Given the description of an element on the screen output the (x, y) to click on. 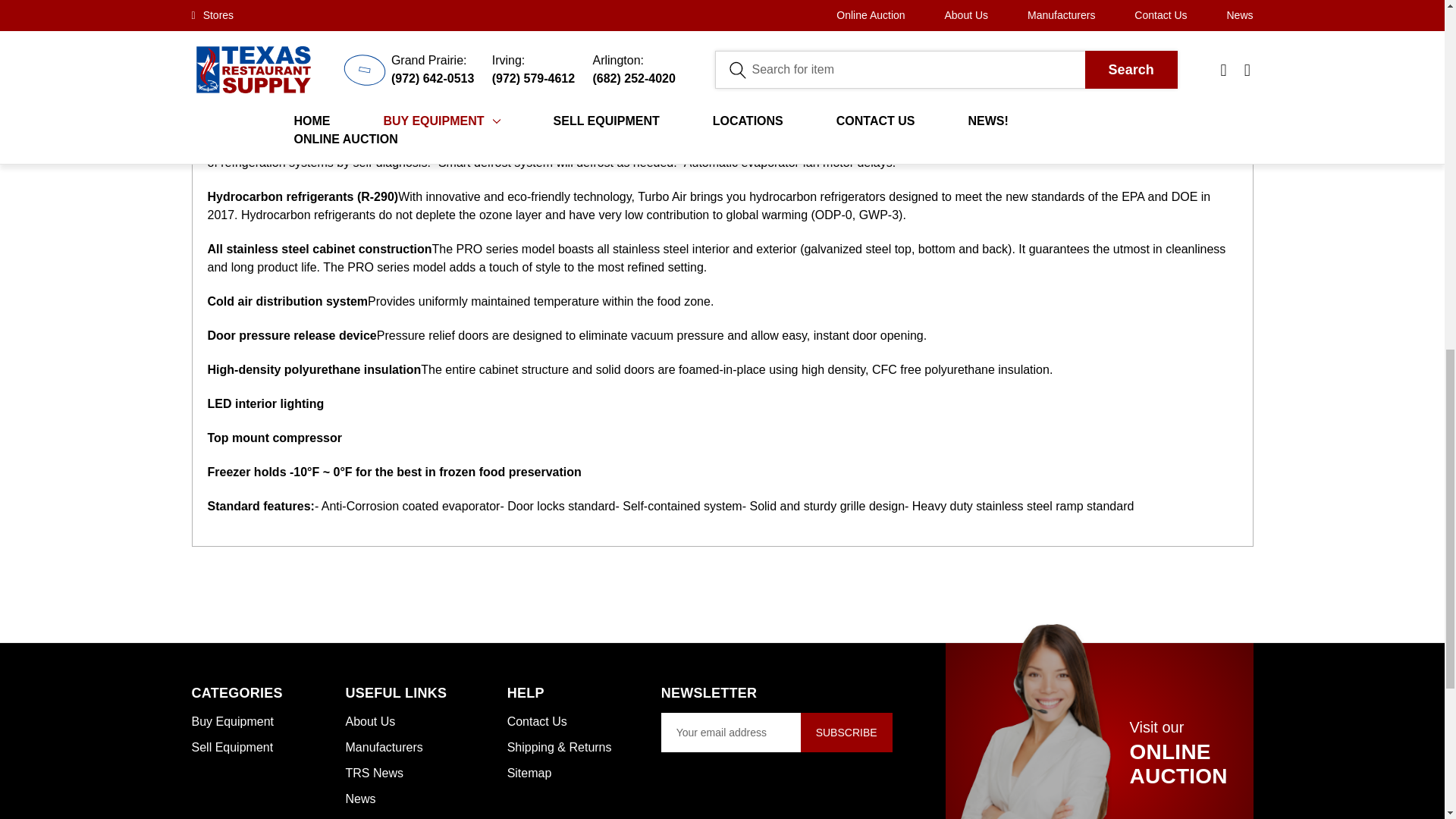
Subscribe (846, 732)
